Given the description of an element on the screen output the (x, y) to click on. 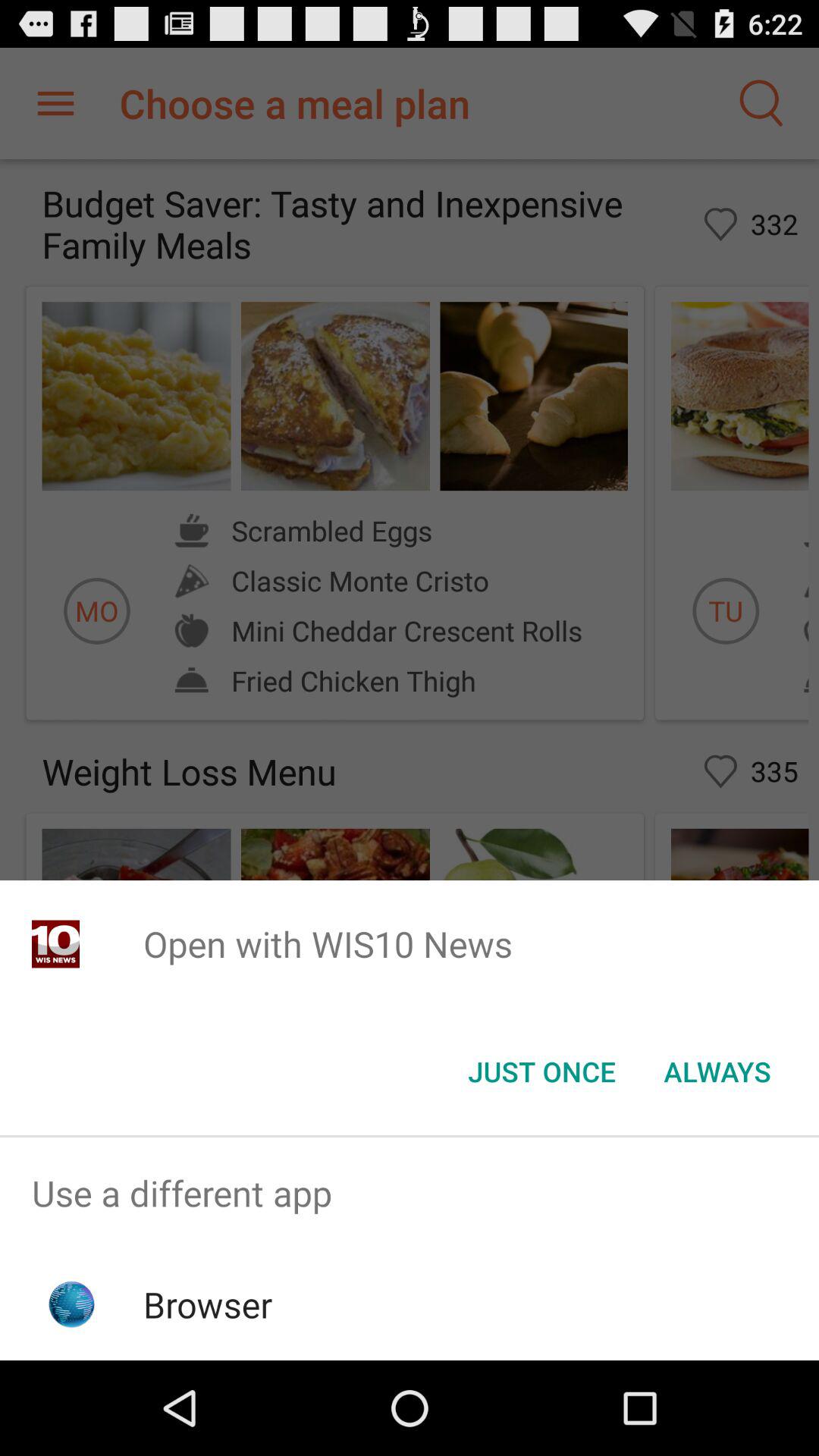
launch always icon (717, 1071)
